Given the description of an element on the screen output the (x, y) to click on. 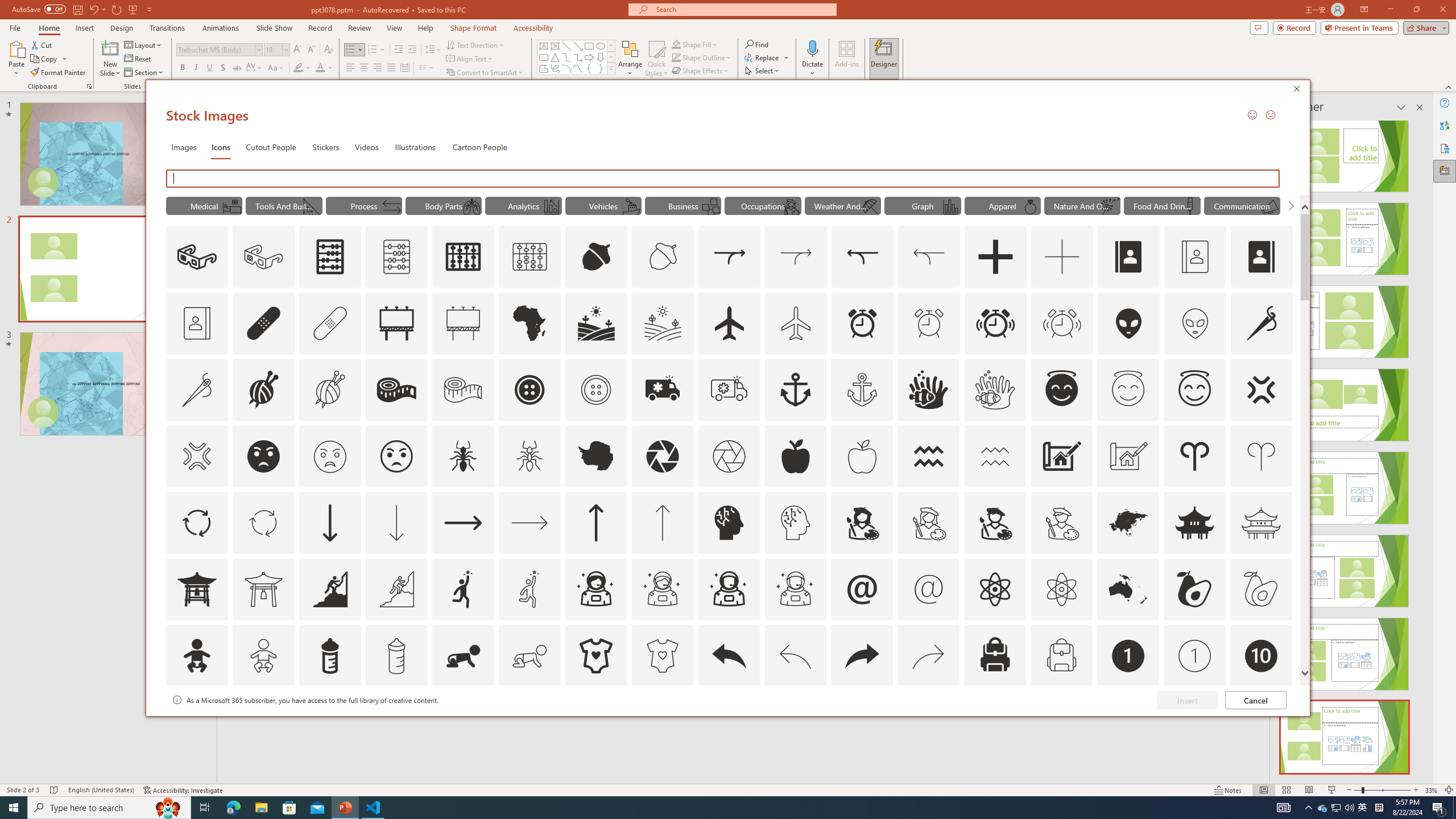
AutomationID: Icons_AsianTemple (1194, 522)
AutomationID: Icons_TugBoat_M (631, 206)
AutomationID: Icons_Badge8_M (1128, 721)
AutomationID: Icons_Badge10 (1260, 655)
